Given the description of an element on the screen output the (x, y) to click on. 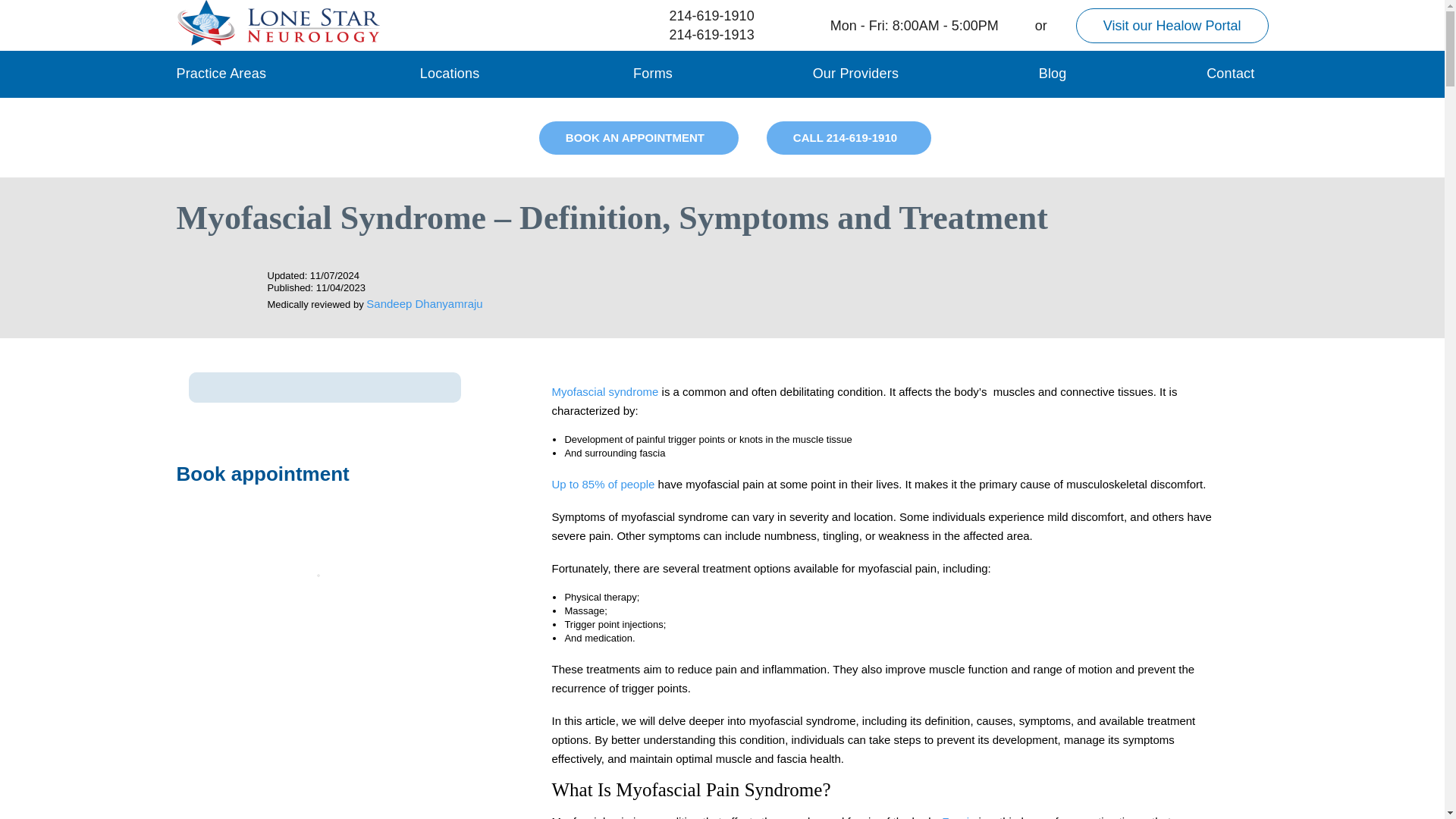
Forms (652, 73)
Visit our Healow Portal (1171, 24)
Practice Areas (221, 73)
214-619-1913 (698, 34)
214-619-1910 (698, 15)
Locations (450, 73)
